Given the description of an element on the screen output the (x, y) to click on. 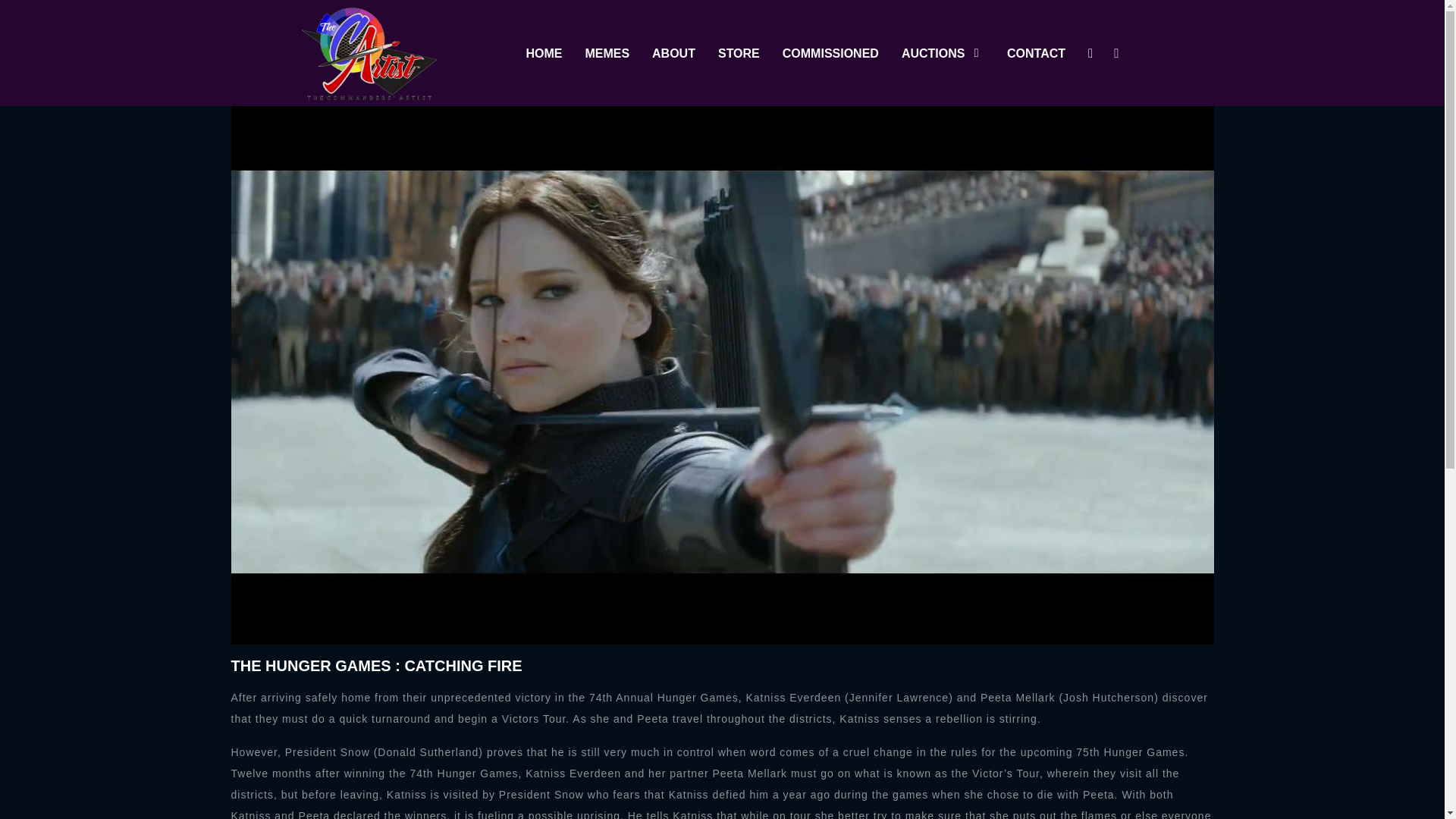
COMMISSIONED (831, 53)
HOME (543, 53)
ABOUT (673, 53)
CONTACT (1036, 53)
MEMES (606, 53)
STORE (738, 53)
AUCTIONS (942, 53)
